Given the description of an element on the screen output the (x, y) to click on. 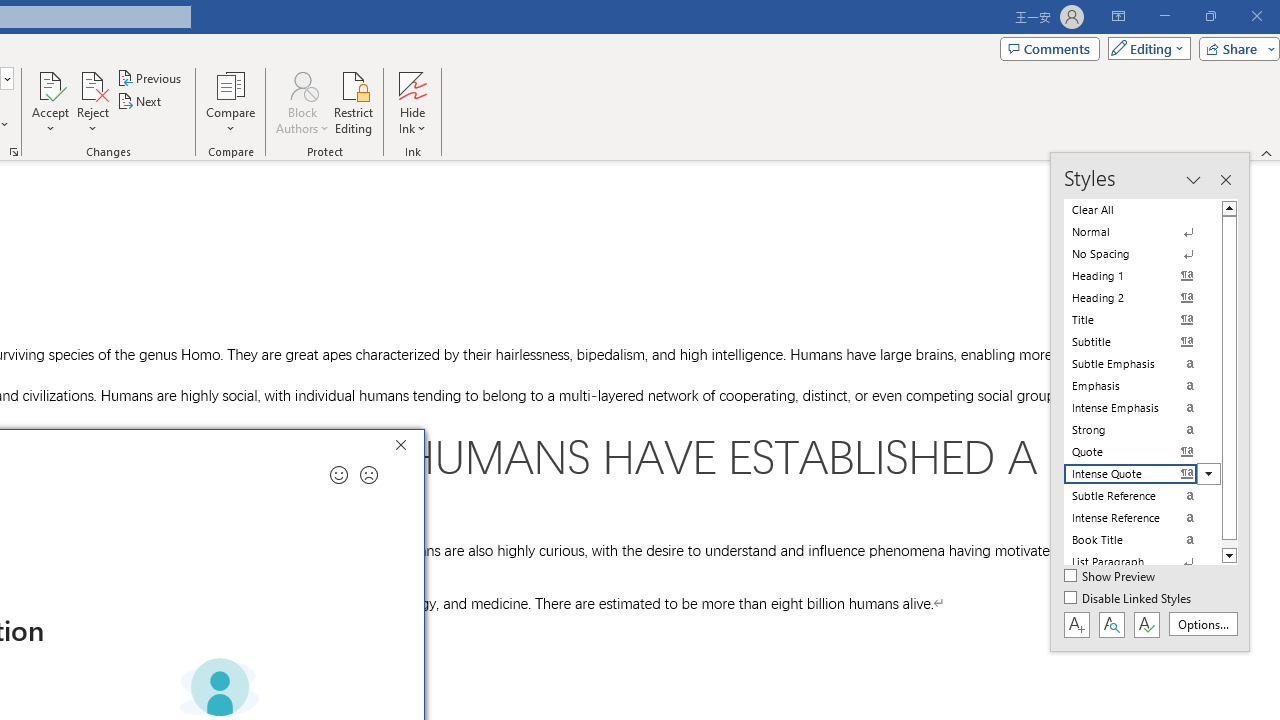
Accept (50, 102)
Options... (1202, 623)
Show Preview (1110, 577)
Subtle Emphasis (1142, 363)
Block Authors (302, 84)
